Given the description of an element on the screen output the (x, y) to click on. 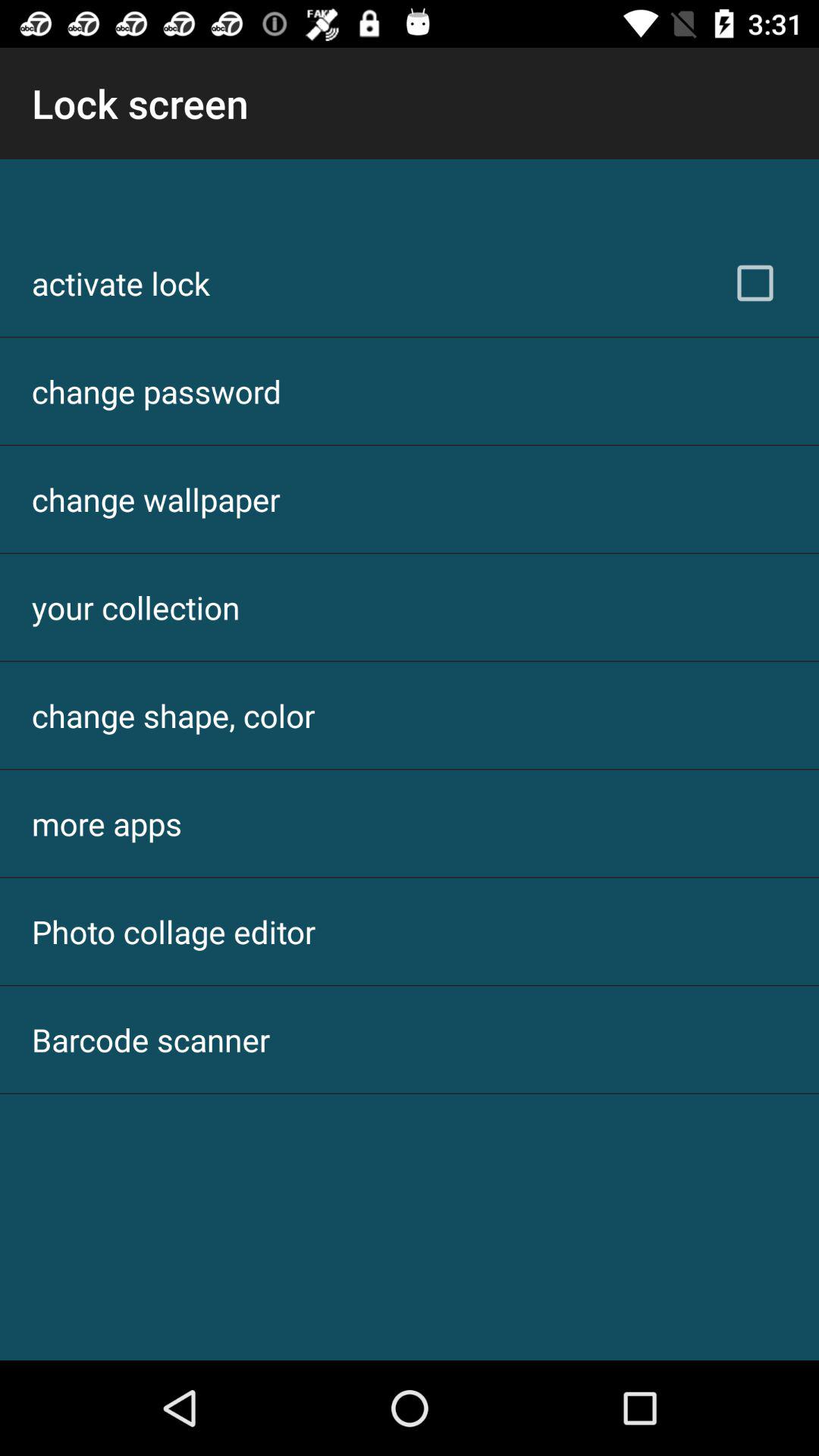
jump until photo collage editor item (173, 931)
